Given the description of an element on the screen output the (x, y) to click on. 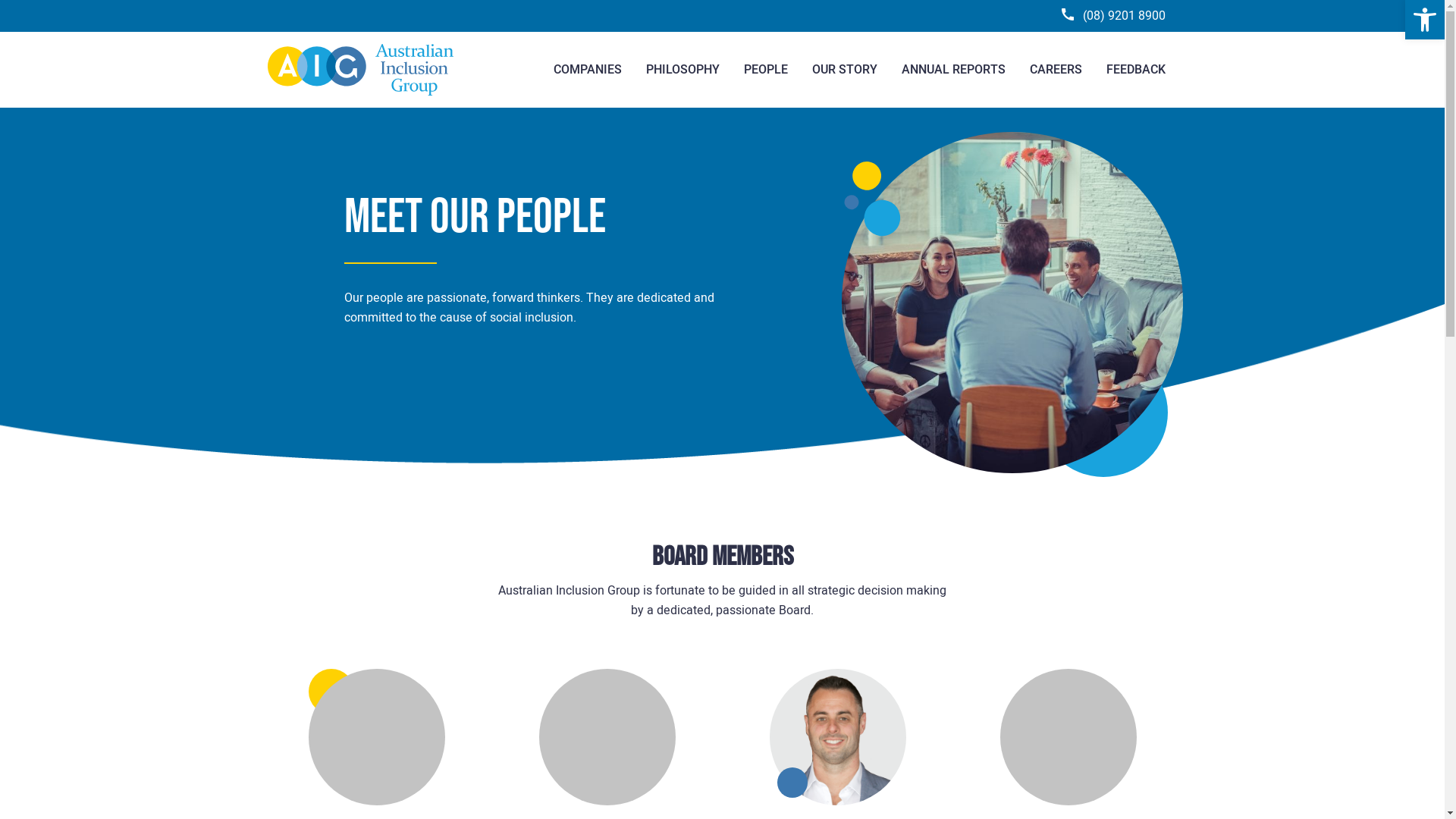
(08) 9201 8900 Element type: text (1113, 15)
Open toolbar
Accessibility Tools Element type: text (1424, 19)
PHILOSOPHY Element type: text (682, 69)
COMPANIES Element type: text (587, 69)
OUR STORY Element type: text (843, 69)
Australian Inclusion Group Element type: hover (359, 69)
PEOPLE Element type: text (765, 69)
FEEDBACK Element type: text (1134, 69)
CAREERS Element type: text (1055, 69)
ANNUAL REPORTS Element type: text (952, 69)
